Given the description of an element on the screen output the (x, y) to click on. 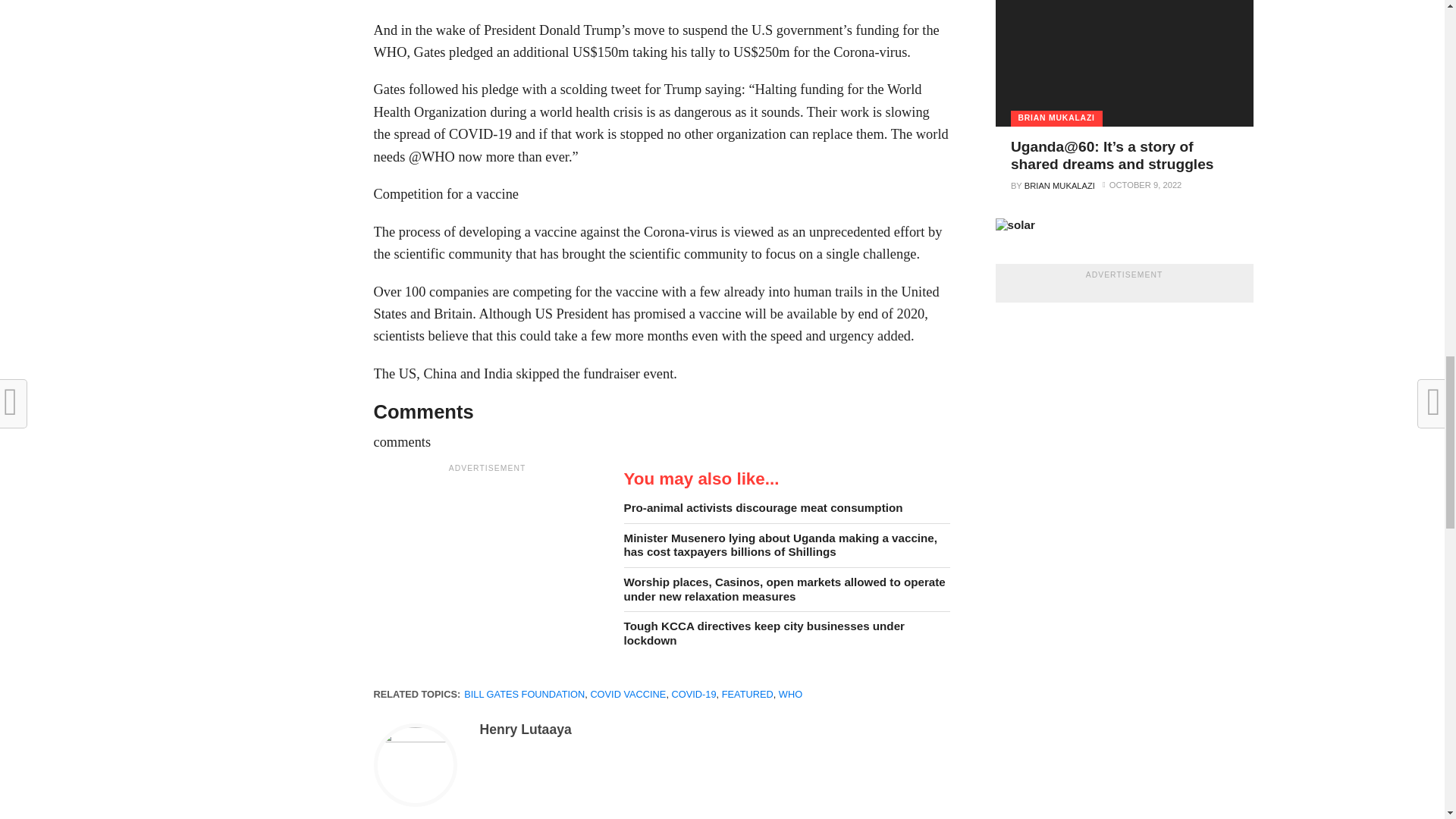
Posts by Henry Lutaaya (524, 729)
